Given the description of an element on the screen output the (x, y) to click on. 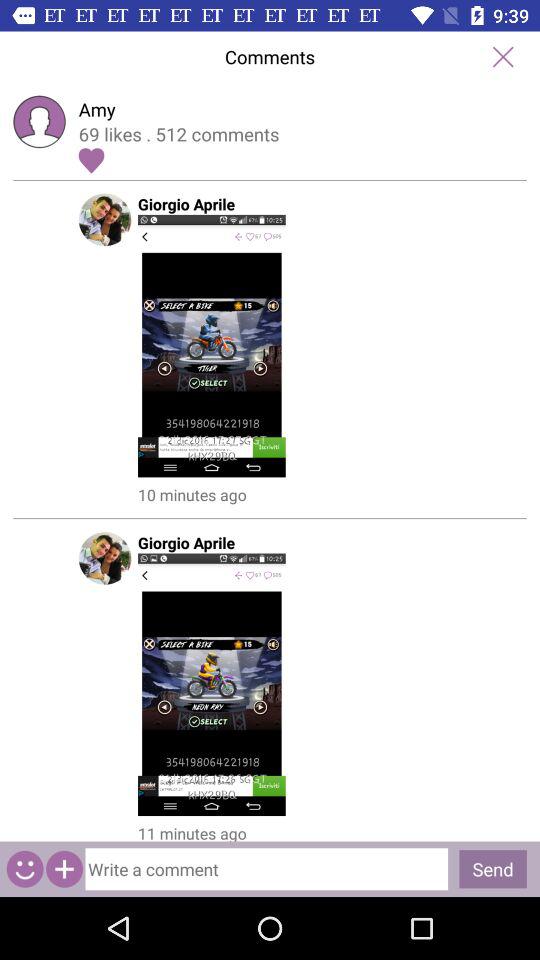
select to write a comment option (270, 864)
